Given the description of an element on the screen output the (x, y) to click on. 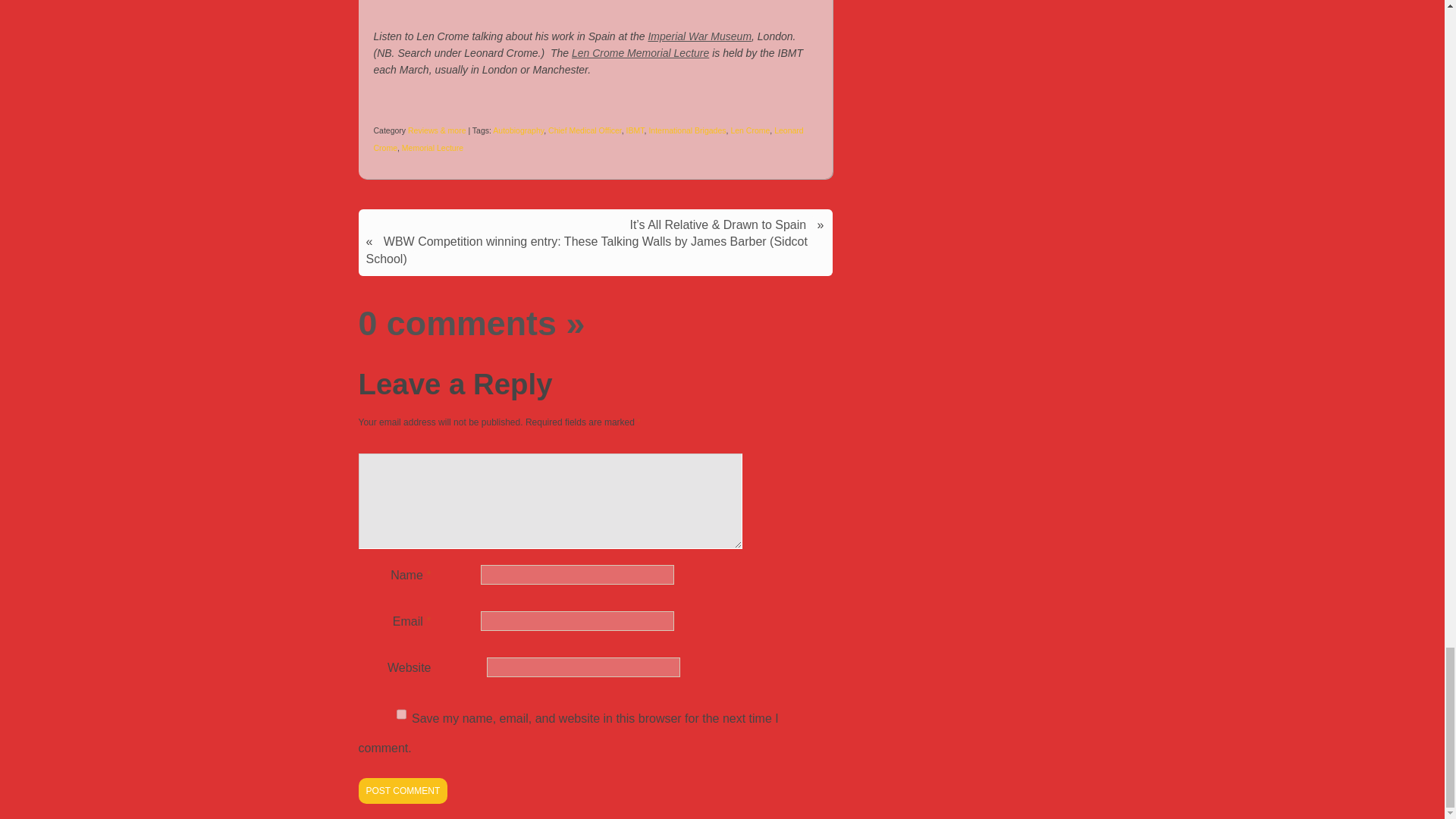
Memorial Lecture (432, 147)
IBMT (635, 130)
Len Crome (750, 130)
Post Comment (402, 790)
Len Crome Memorial Lecture (640, 52)
0 comments (457, 322)
Post Comment (402, 790)
Autobiography (518, 130)
Leonard Crome (587, 138)
International Brigades (686, 130)
